Given the description of an element on the screen output the (x, y) to click on. 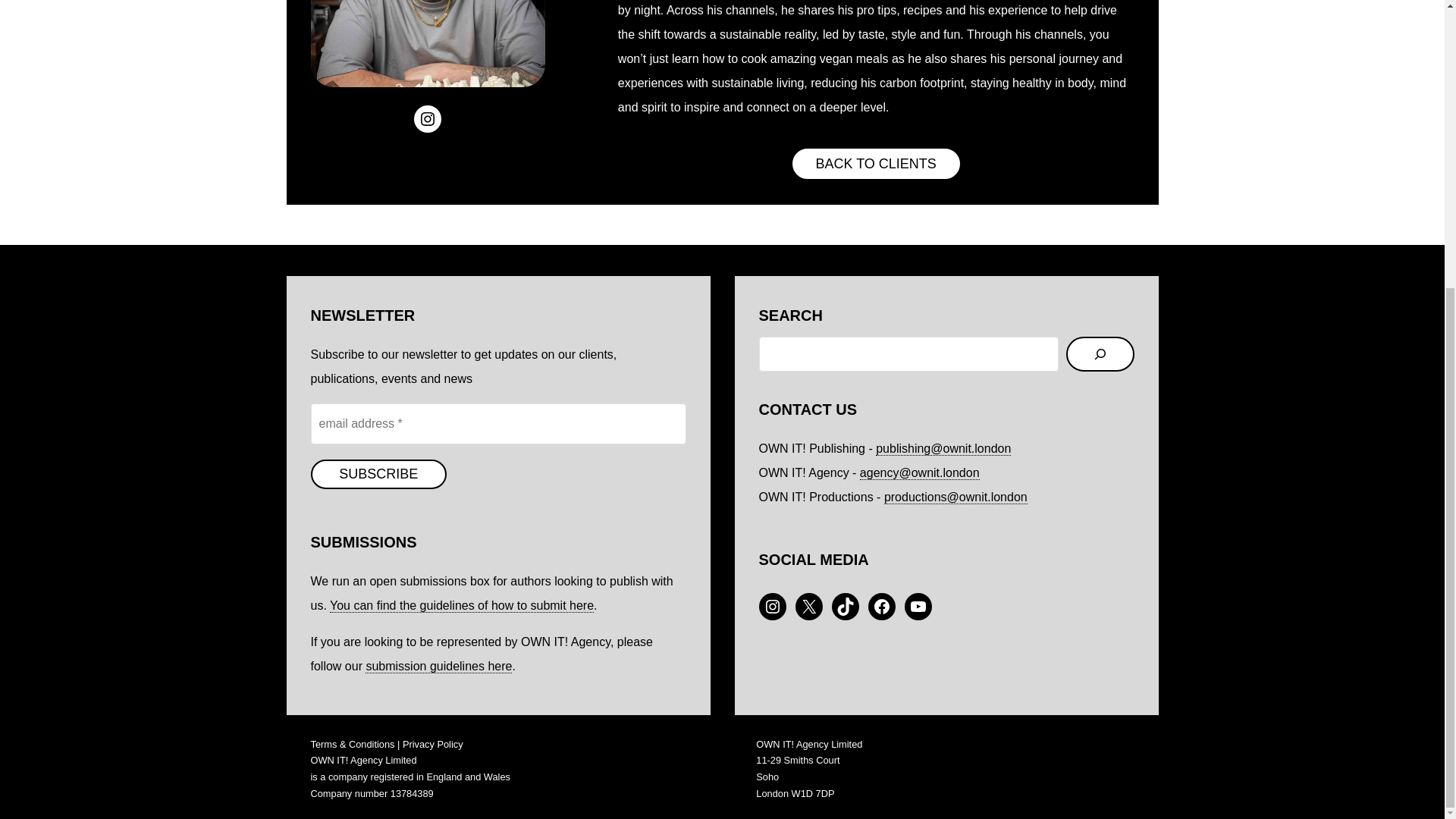
Instagram (772, 605)
YouTube (917, 605)
X (808, 605)
You can find the guidelines of how to submit here (462, 605)
SUBSCRIBE (378, 474)
Privacy Policy (433, 744)
SUBSCRIBE (378, 474)
submission guidelines here (438, 666)
TikTok (845, 605)
email address (498, 423)
BACK TO CLIENTS (875, 163)
Facebook (881, 605)
Instagram (427, 118)
